Given the description of an element on the screen output the (x, y) to click on. 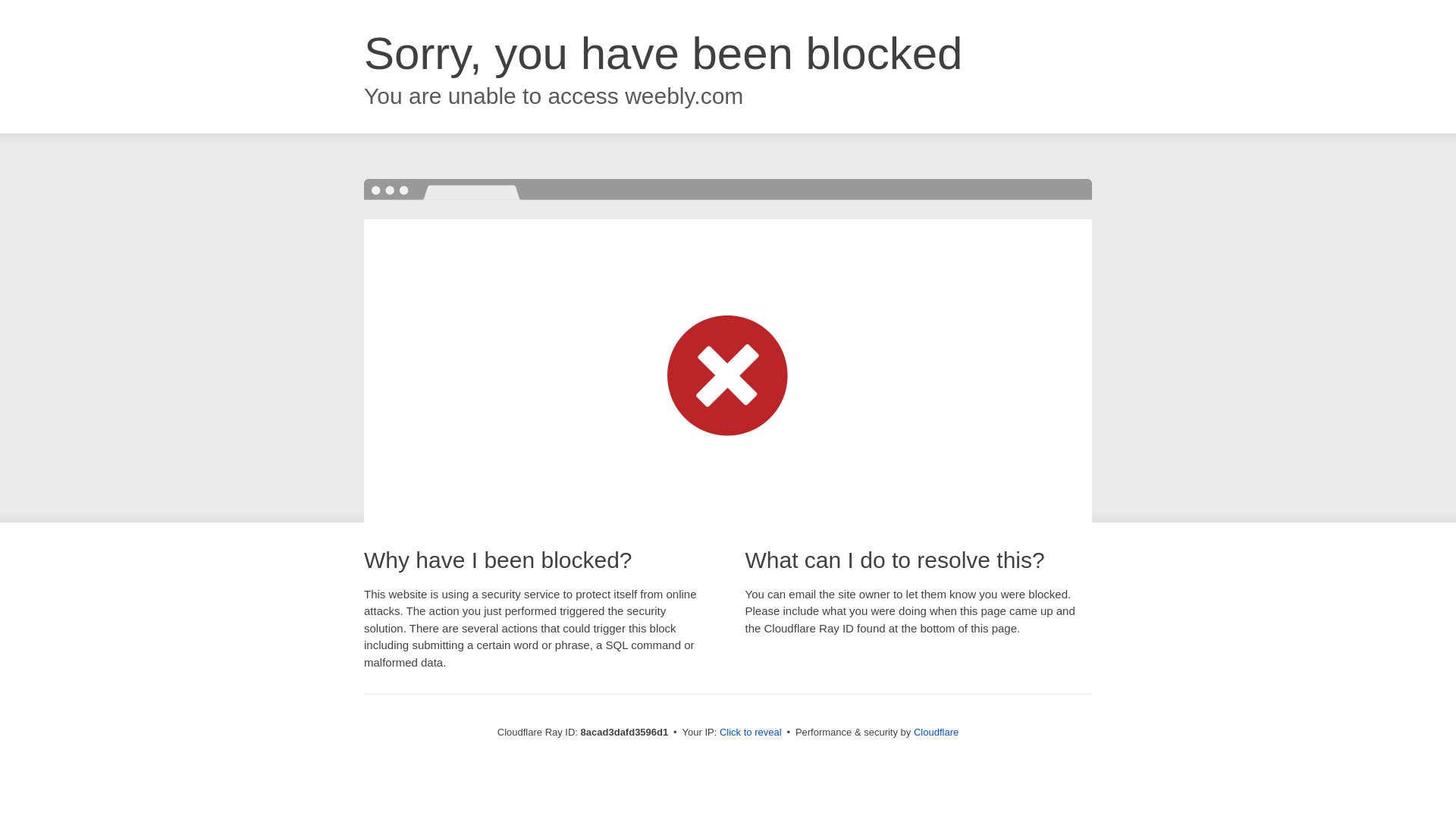
Cloudflare (936, 731)
Click to reveal (750, 732)
